Given the description of an element on the screen output the (x, y) to click on. 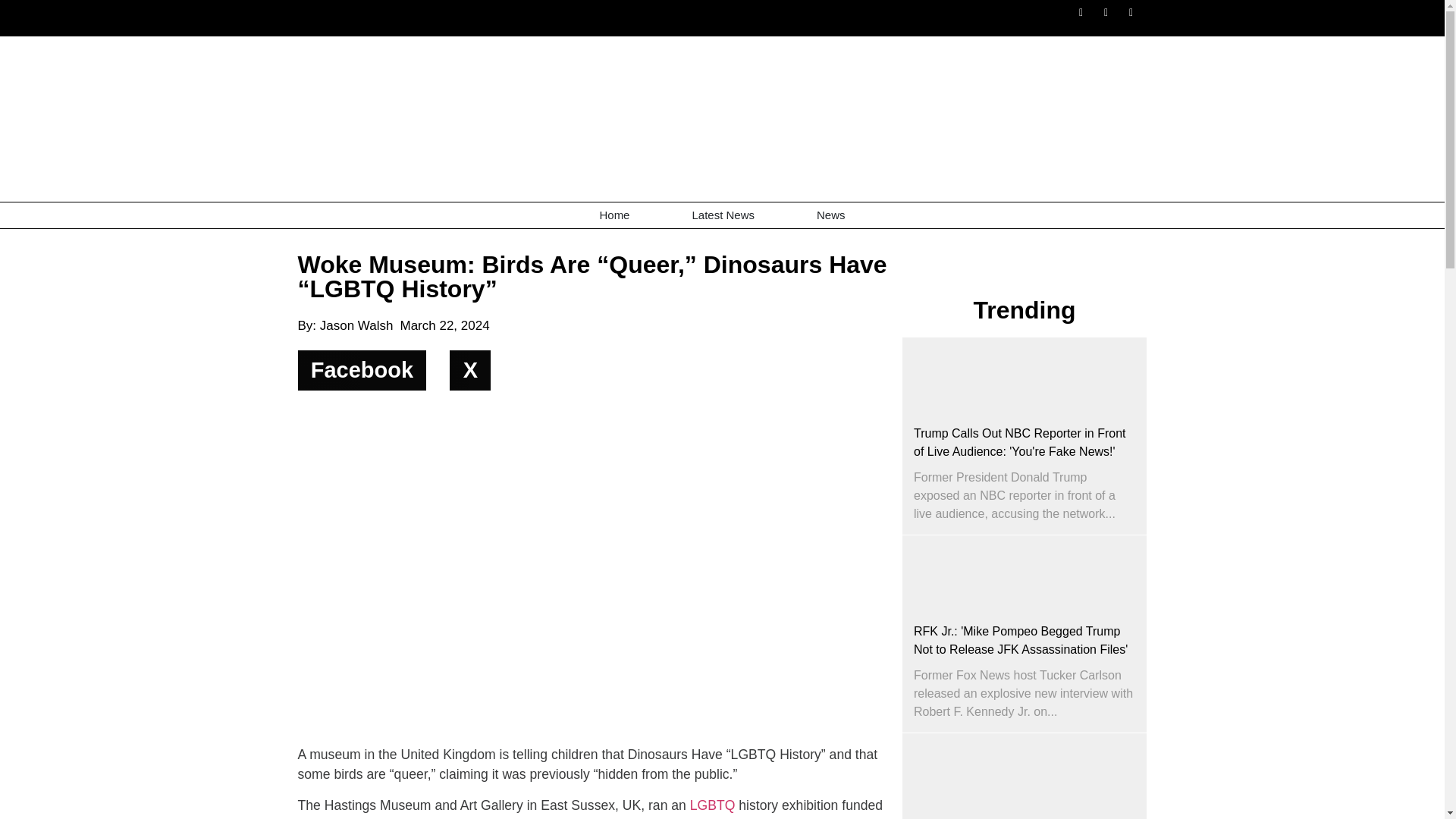
News (831, 215)
LGBTQ (712, 805)
Home (614, 215)
March 22, 2024 (443, 325)
Latest News (723, 215)
